Given the description of an element on the screen output the (x, y) to click on. 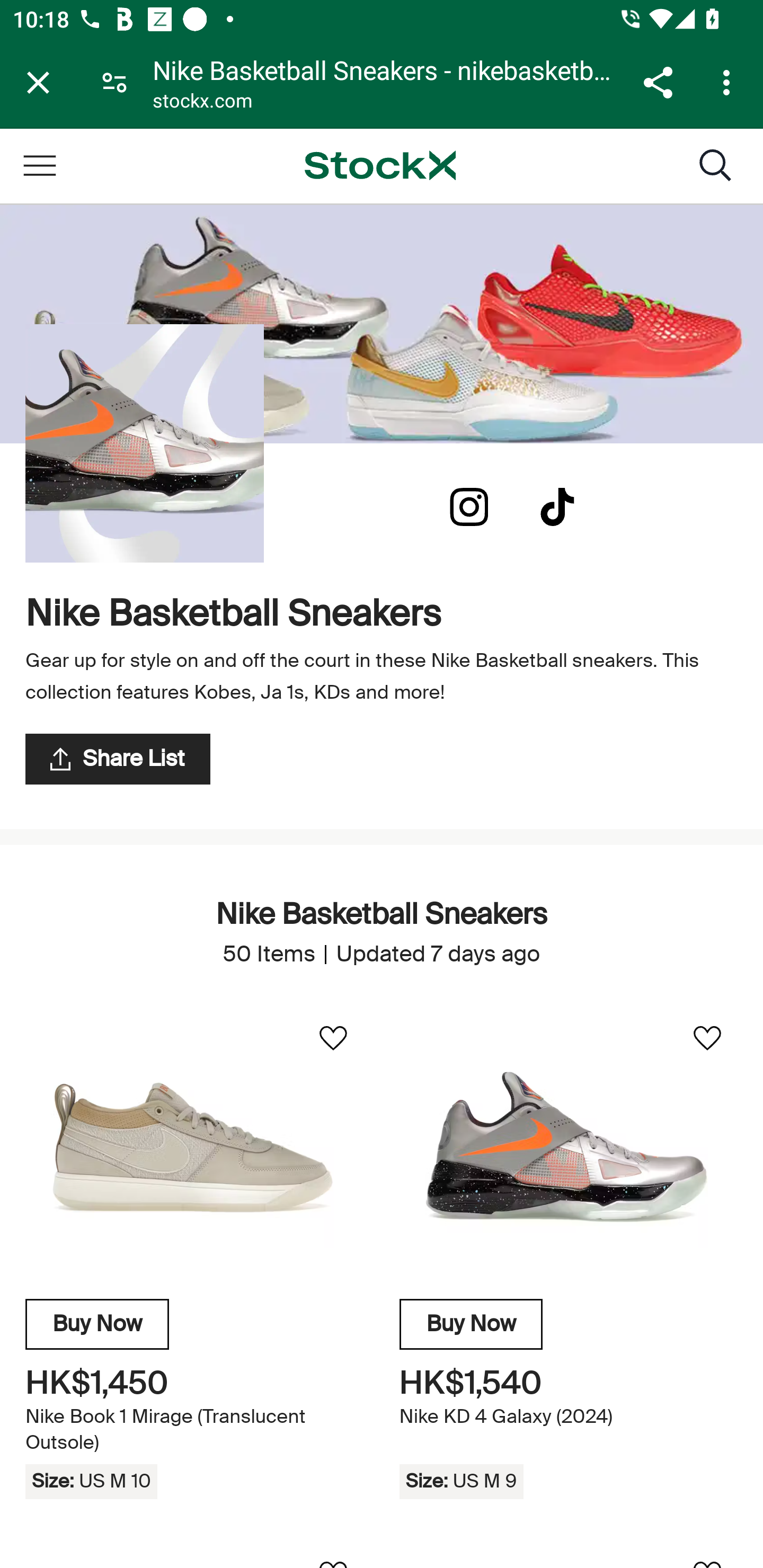
Close tab (38, 82)
Share (657, 82)
Customize and control Google Chrome (729, 82)
Connection is secure (114, 81)
stockx.com (202, 103)
Toggle Navigation (39, 165)
StockX Logo (379, 165)
?hl=en (469, 507)
@stockx (557, 507)
Share List (118, 758)
nike-book-1-light-orewood-brown?size=10 (194, 1147)
nike-kd-4-galaxy-2024?size=9 (568, 1147)
Buy Now (97, 1324)
Buy Now (471, 1324)
